Given the description of an element on the screen output the (x, y) to click on. 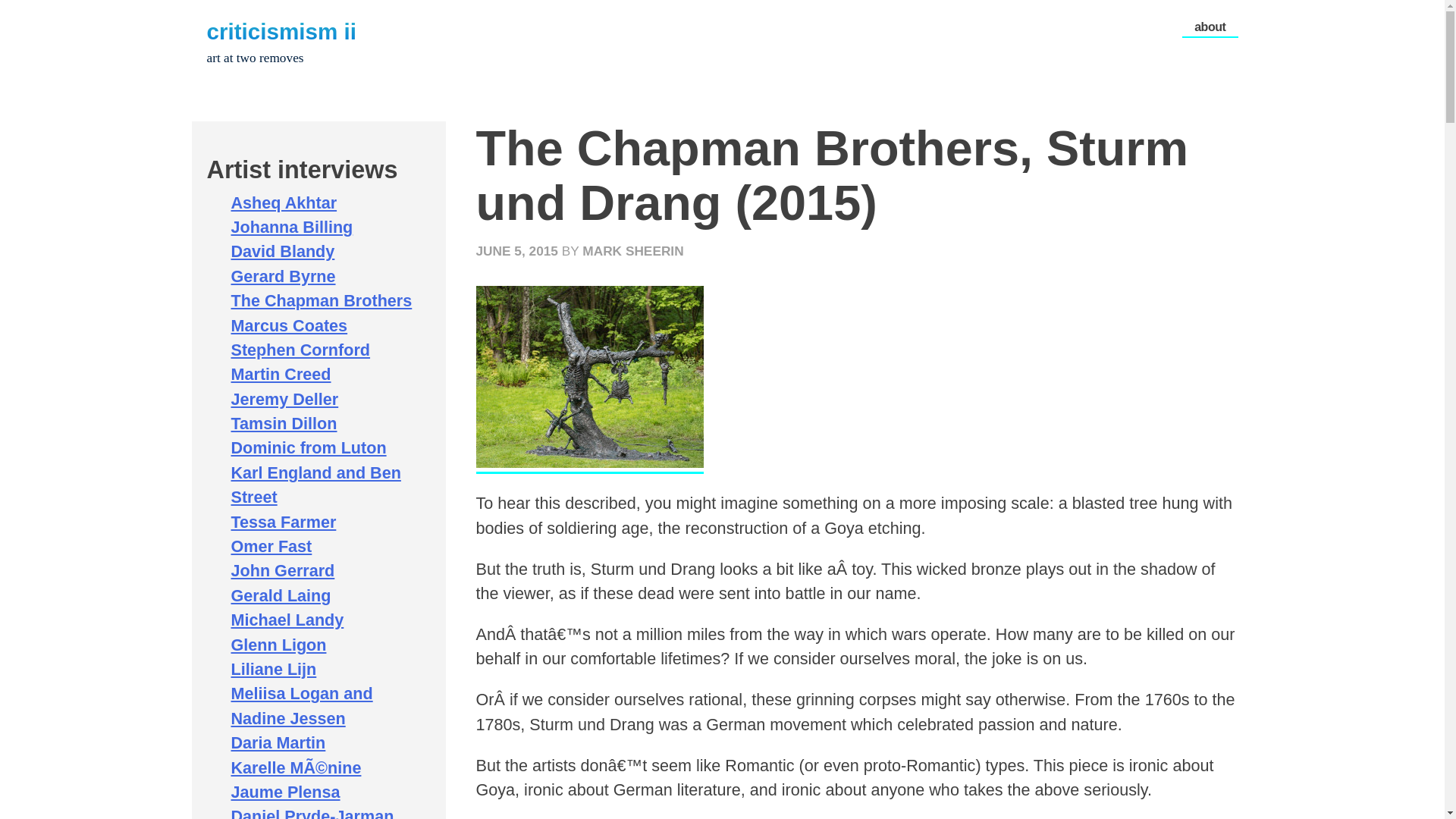
criticismism ii (280, 31)
MARK SHEERIN (632, 250)
Gerard Byrne (282, 275)
David Blandy (282, 251)
The Chapman Brothers (321, 300)
Marcus Coates (288, 325)
Tessa Farmer (283, 521)
Martin Creed (280, 374)
Jeremy Deller (283, 398)
Karl England and Ben Street (315, 484)
Johanna Billing (291, 226)
Dominic from Luton (307, 447)
Stephen Cornford (299, 349)
JUNE 5, 2015 (516, 250)
Asheq Akhtar (283, 202)
